Given the description of an element on the screen output the (x, y) to click on. 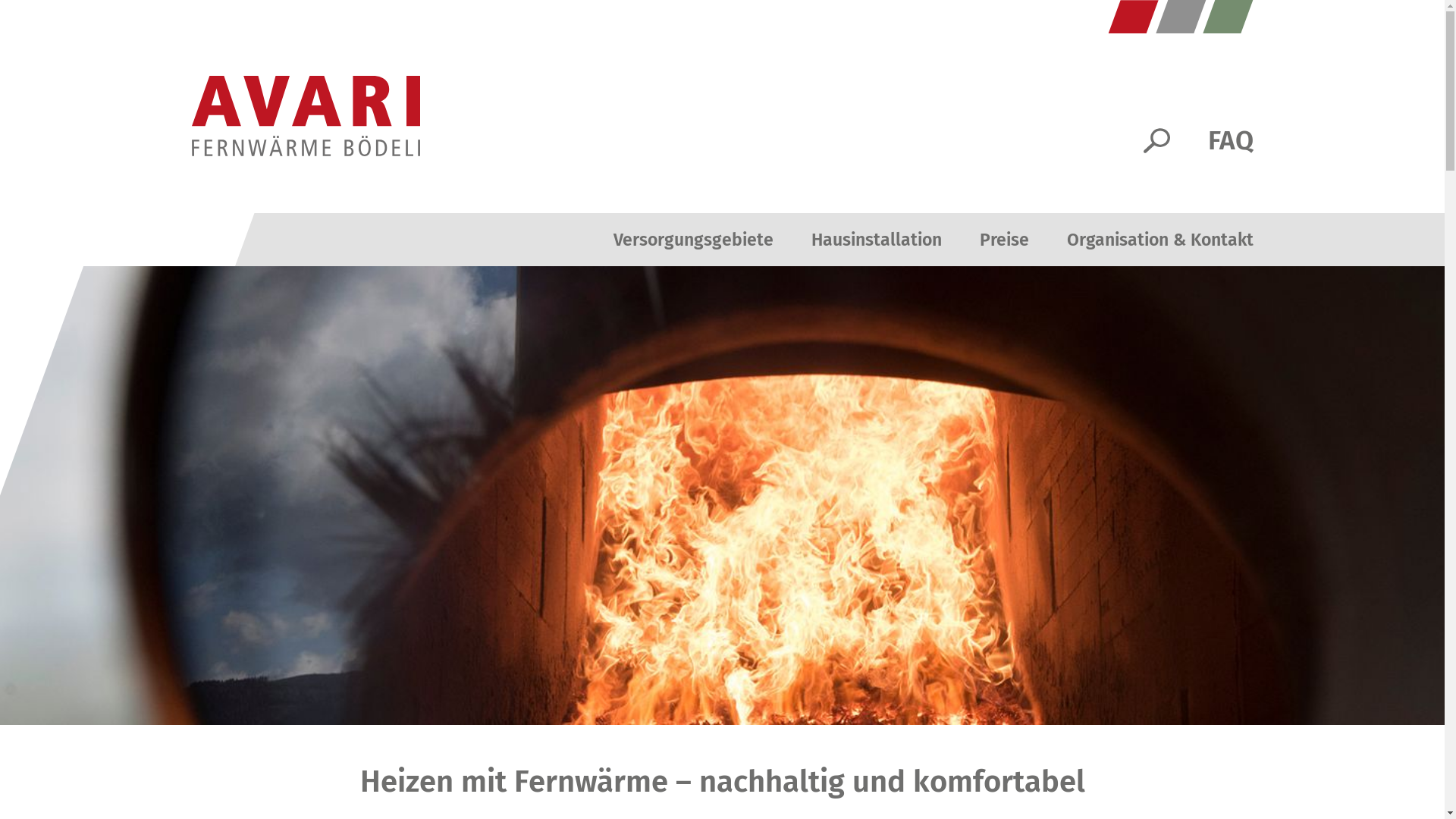
Suchen Element type: text (1156, 140)
Hausinstallation Element type: text (876, 239)
Preise Element type: text (1004, 239)
AVARI AG Element type: hover (305, 115)
Organisation & Kontakt Element type: text (1159, 239)
Versorgungsgebiete Element type: text (692, 239)
FAQ Element type: text (1229, 140)
